Given the description of an element on the screen output the (x, y) to click on. 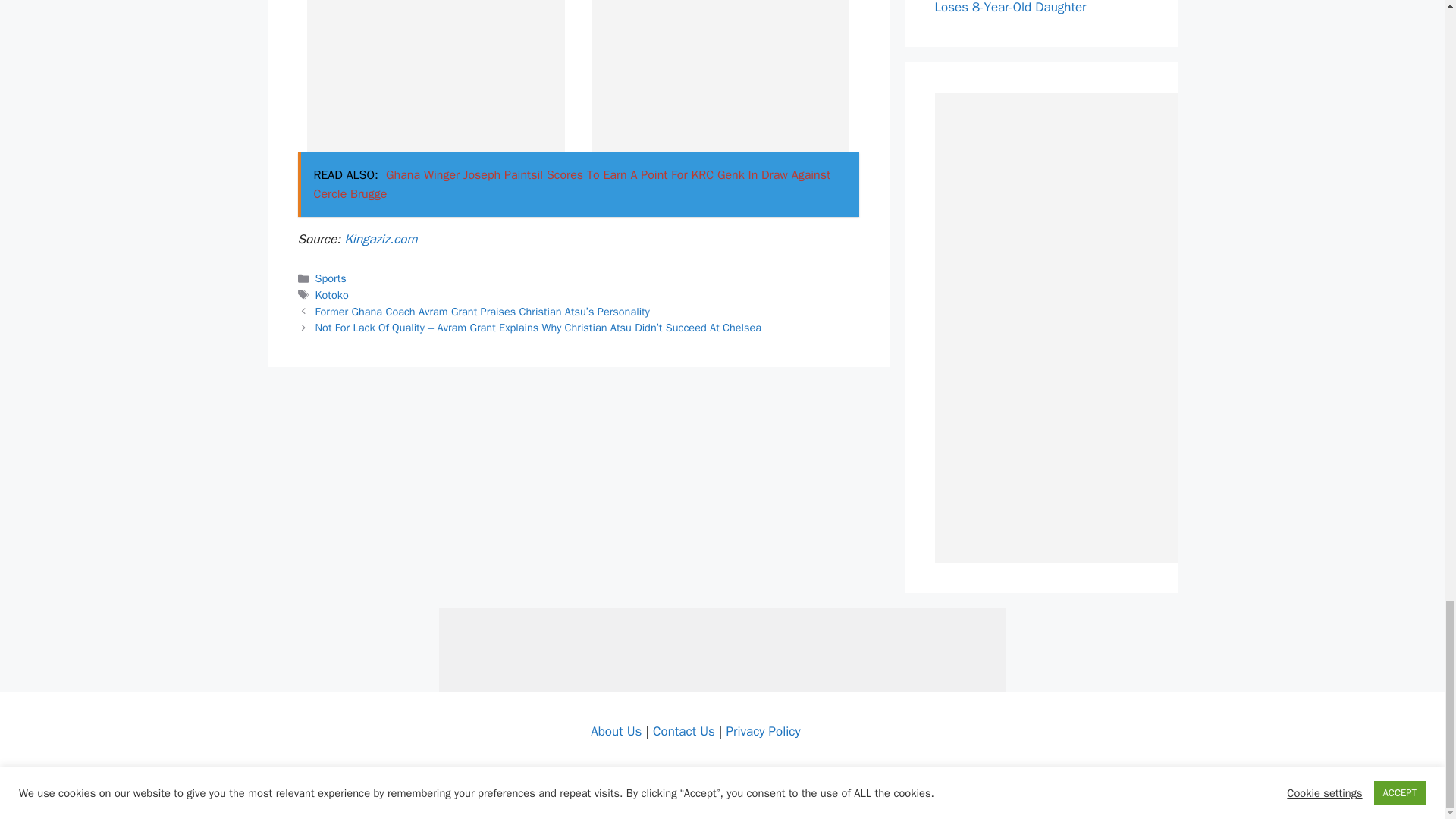
About Us (616, 731)
Kingaziz.com (379, 238)
Privacy Policy (762, 731)
Contact Us (683, 731)
Kotoko (332, 295)
Kumawood Actress Bernice Asare Loses 8-Year-Old Daughter (1029, 7)
Sports (330, 278)
